Given the description of an element on the screen output the (x, y) to click on. 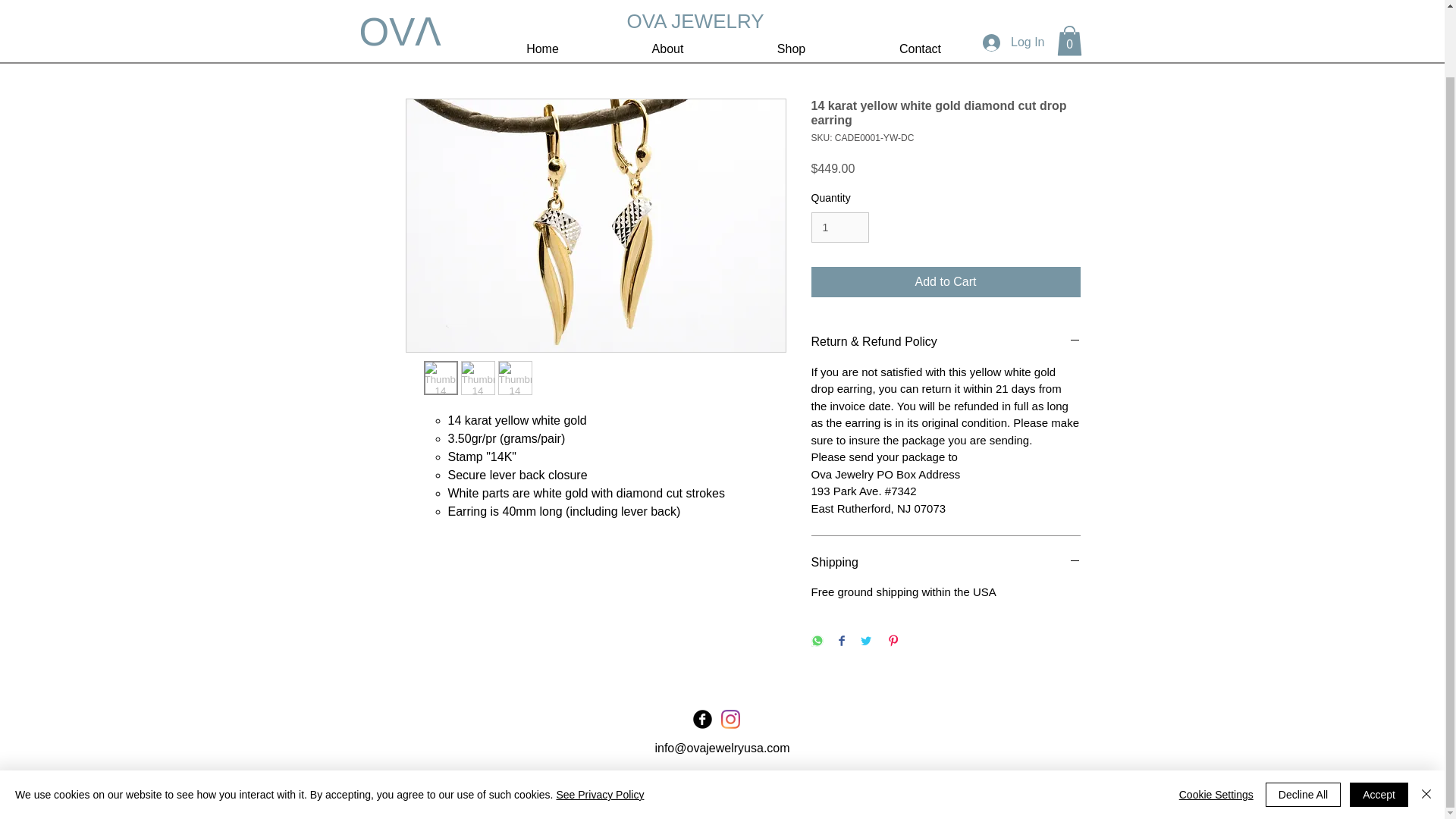
Add to Cart (945, 281)
14 karat yellow white gold diamond cut drop earring (586, 42)
Shipping (945, 562)
Accept (1378, 721)
Decline All (1302, 721)
1 (839, 227)
Home (421, 42)
See Privacy Policy (599, 720)
